Given the description of an element on the screen output the (x, y) to click on. 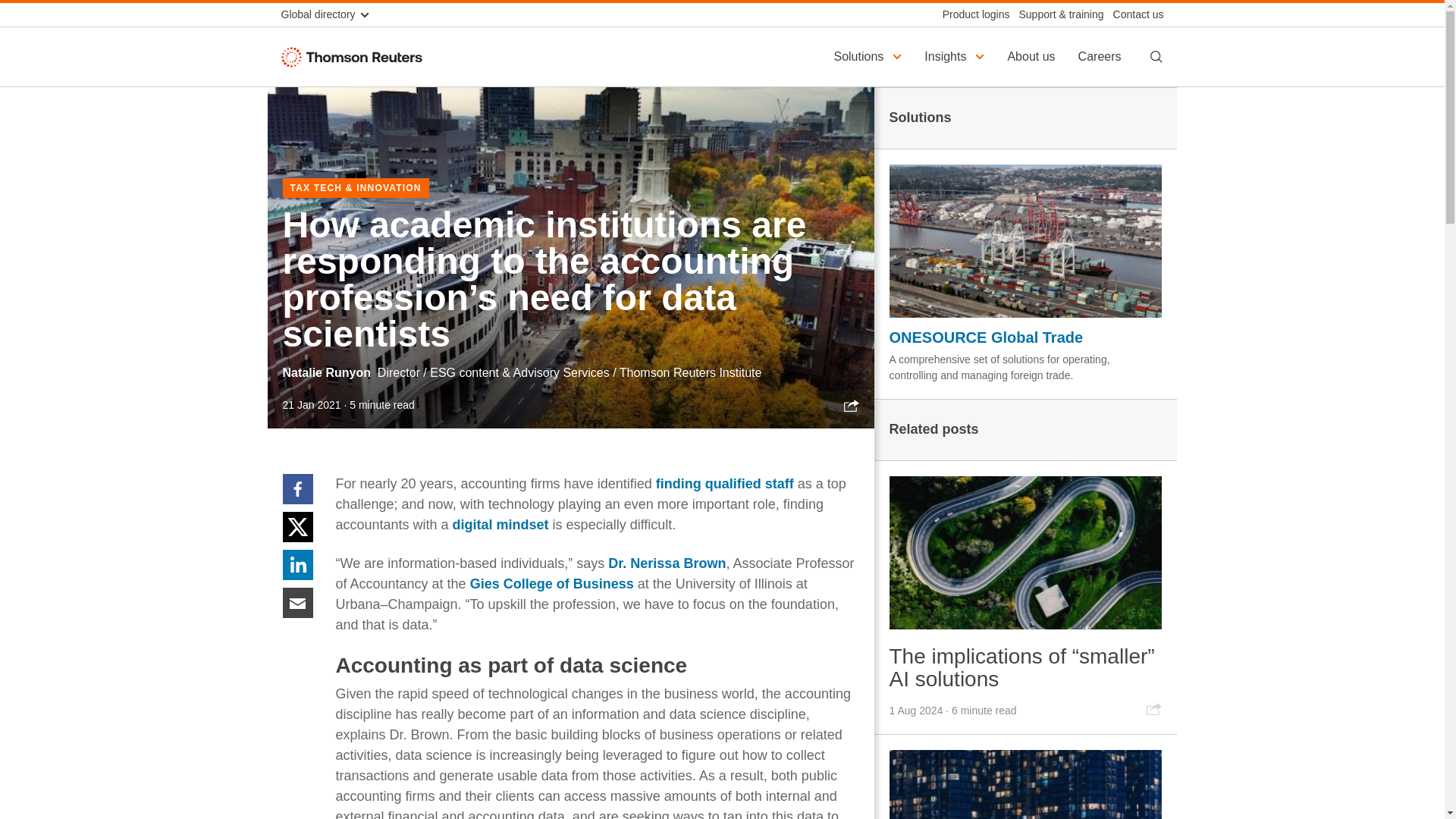
Contact us (1133, 14)
Careers (1101, 56)
Product logins (971, 14)
Global directory (331, 14)
Insights (956, 56)
21 Jan 2021 (311, 404)
Share (850, 405)
Thomson Reuters (355, 56)
Solutions (869, 56)
Email (297, 601)
About us (1032, 56)
Natalie Runyon (325, 372)
Facebook (297, 487)
Twitter (297, 525)
Linkedin (297, 563)
